Given the description of an element on the screen output the (x, y) to click on. 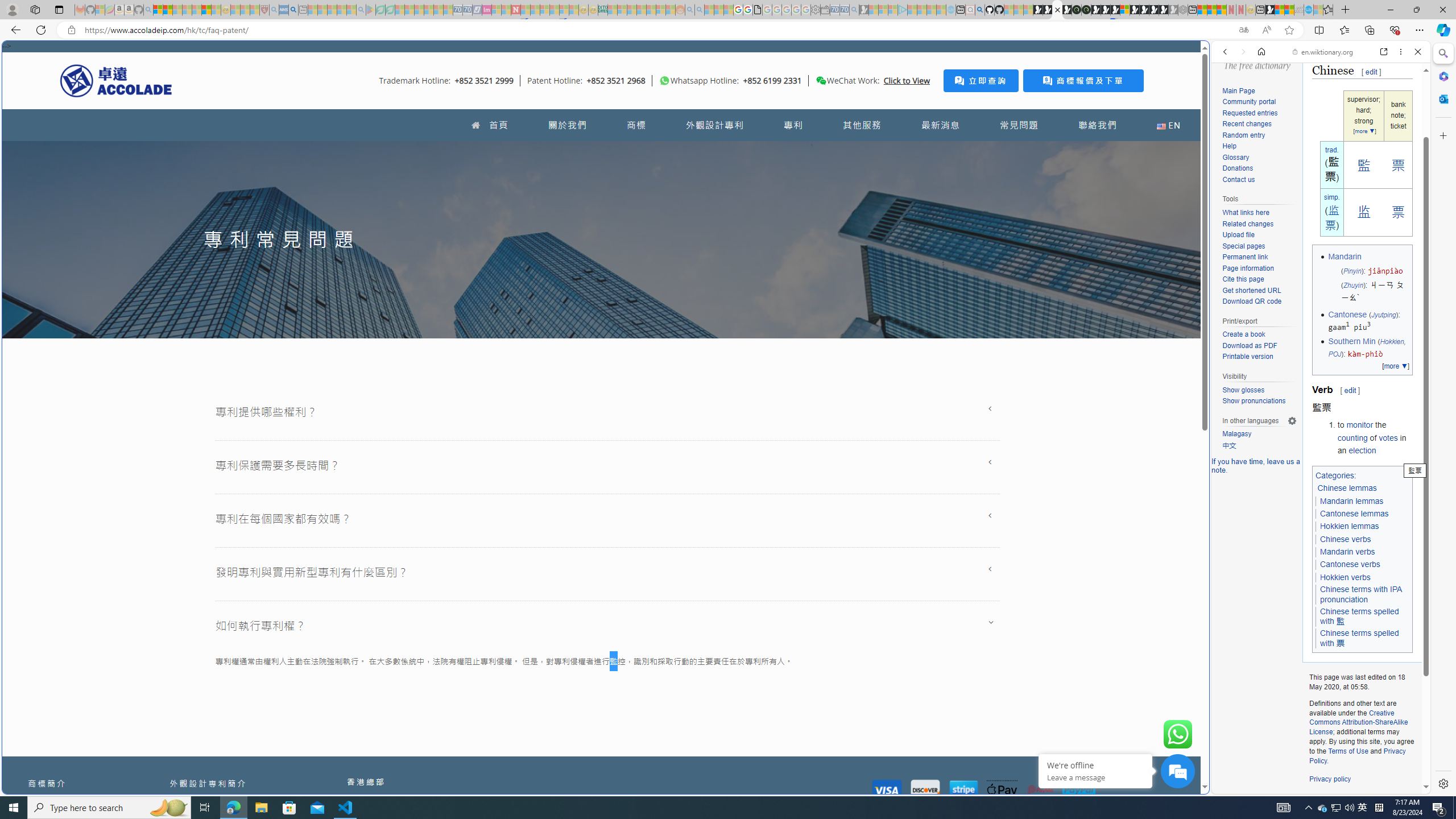
Page information (1259, 268)
monitor (1359, 424)
utah sues federal government - Search (292, 9)
Southern Min (1351, 341)
bank note; ticket (1397, 115)
Community portal (1259, 102)
Mandarin verbs (1347, 551)
